Given the description of an element on the screen output the (x, y) to click on. 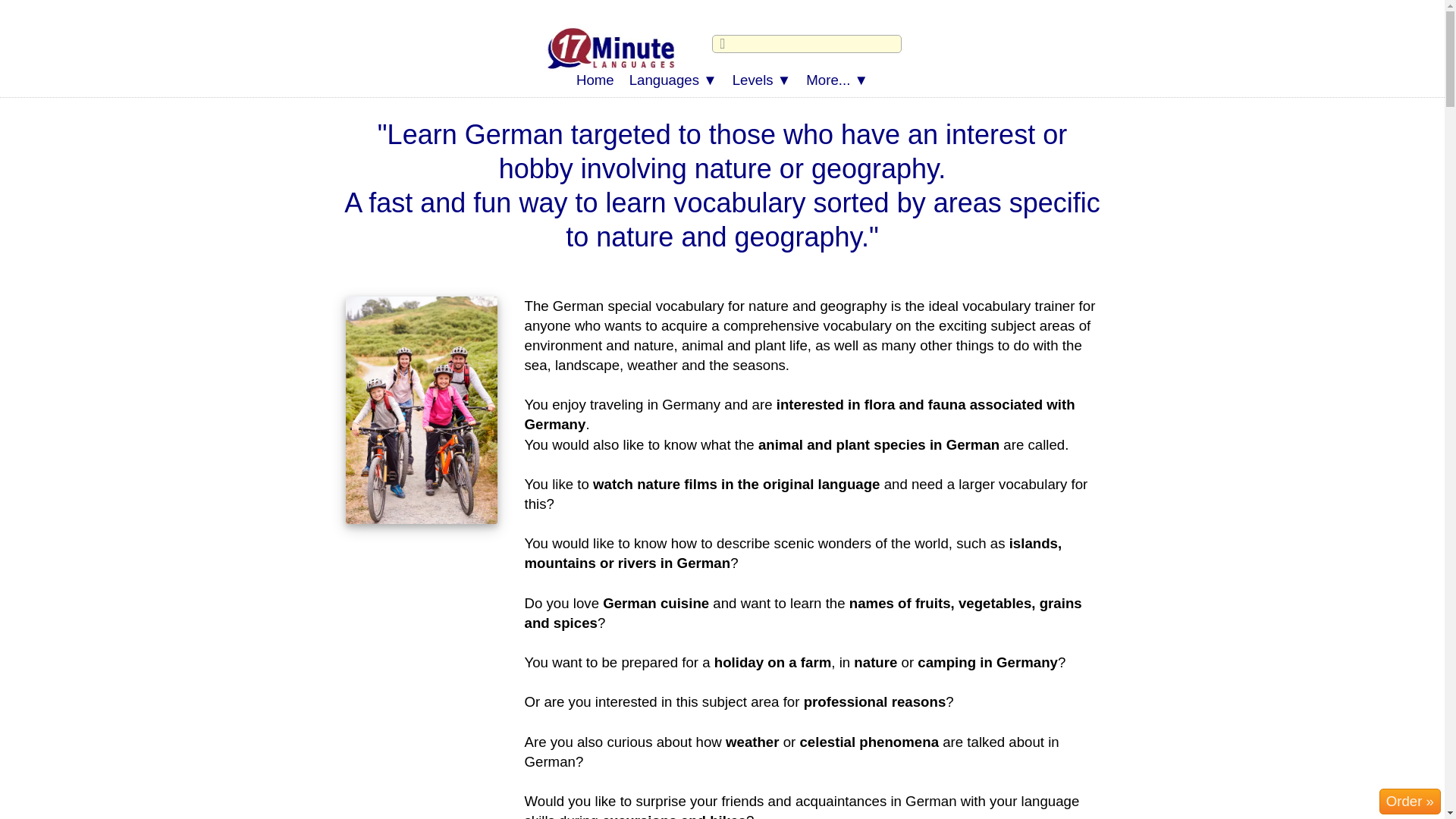
Languages (673, 80)
Home (595, 80)
